Given the description of an element on the screen output the (x, y) to click on. 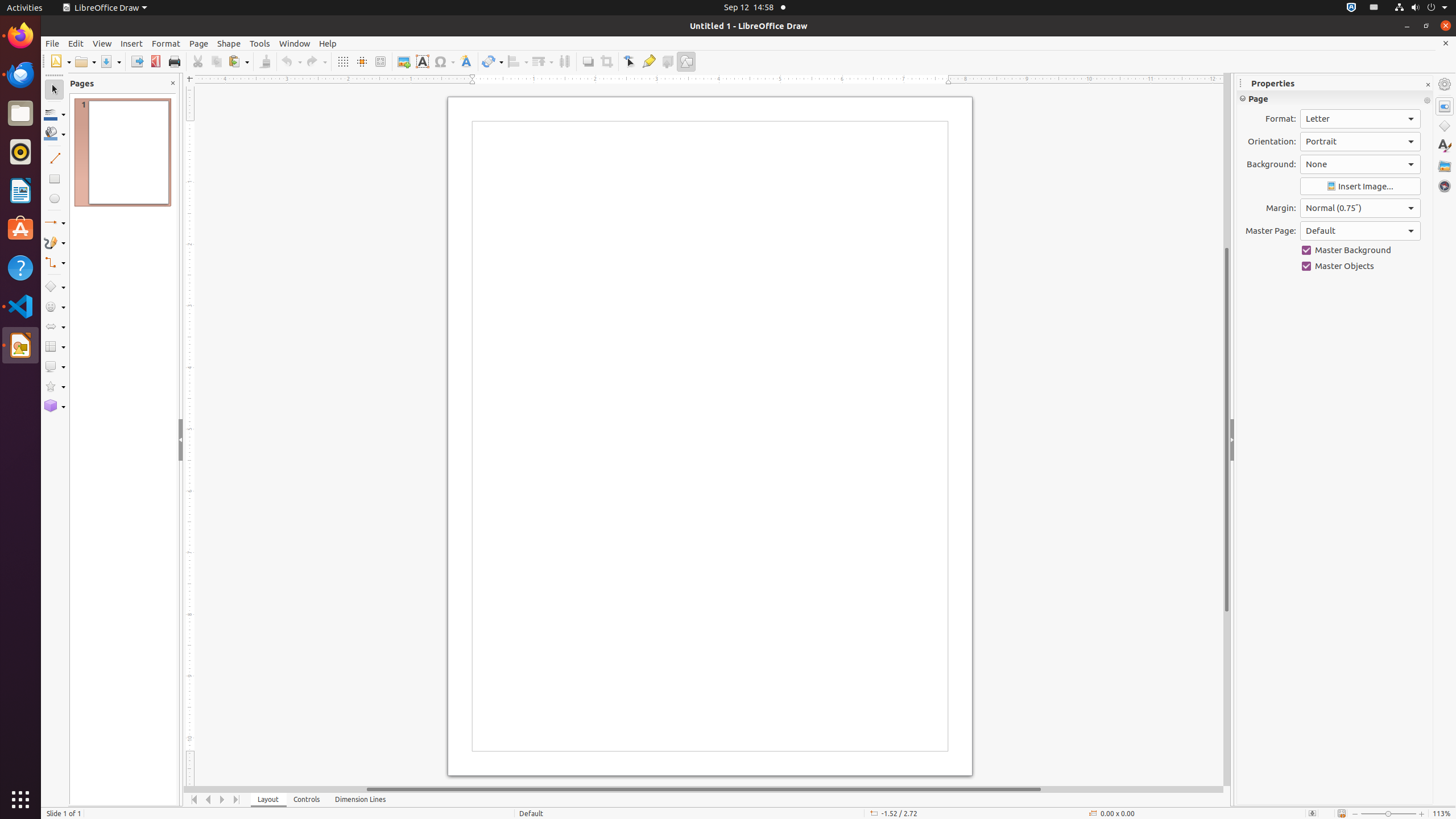
Insert Element type: menu (131, 43)
Fill Color Element type: push-button (146, 81)
Visual Studio Code Element type: push-button (20, 306)
Copy Element type: push-button (216, 61)
Toggle Extrusion Element type: push-button (667, 61)
